Given the description of an element on the screen output the (x, y) to click on. 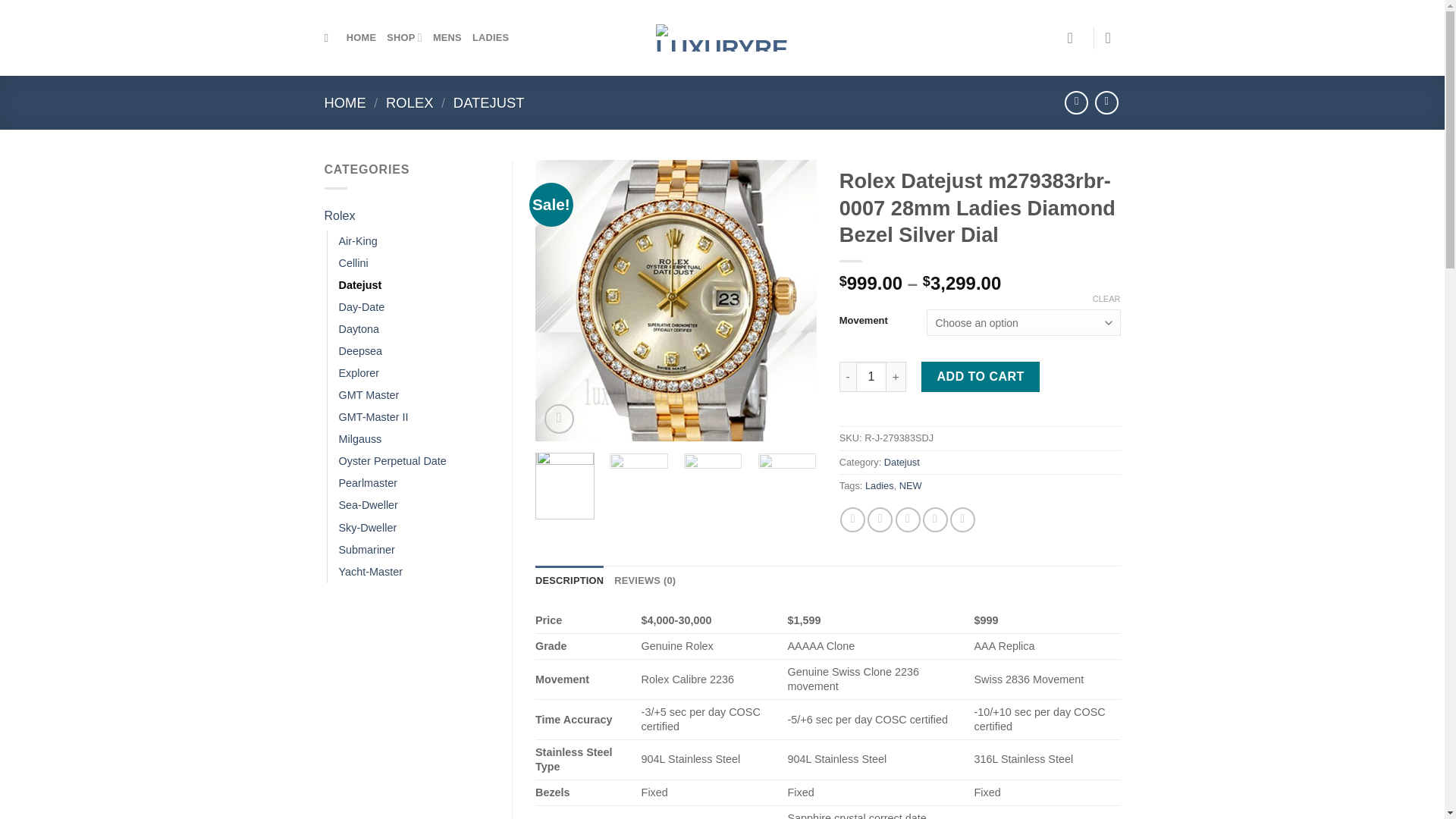
Day-Date (360, 307)
279383SDJ-3.jpg (1237, 300)
HOME (345, 102)
HOME (360, 37)
1 (871, 376)
279383SDJ-2.jpg (956, 300)
Rolex (406, 215)
Qty (871, 376)
DATEJUST (488, 102)
279383SDJ-1.jpg (675, 300)
Datejust (359, 285)
ROLEX (408, 102)
Cellini (352, 263)
LADIES (489, 37)
